Given the description of an element on the screen output the (x, y) to click on. 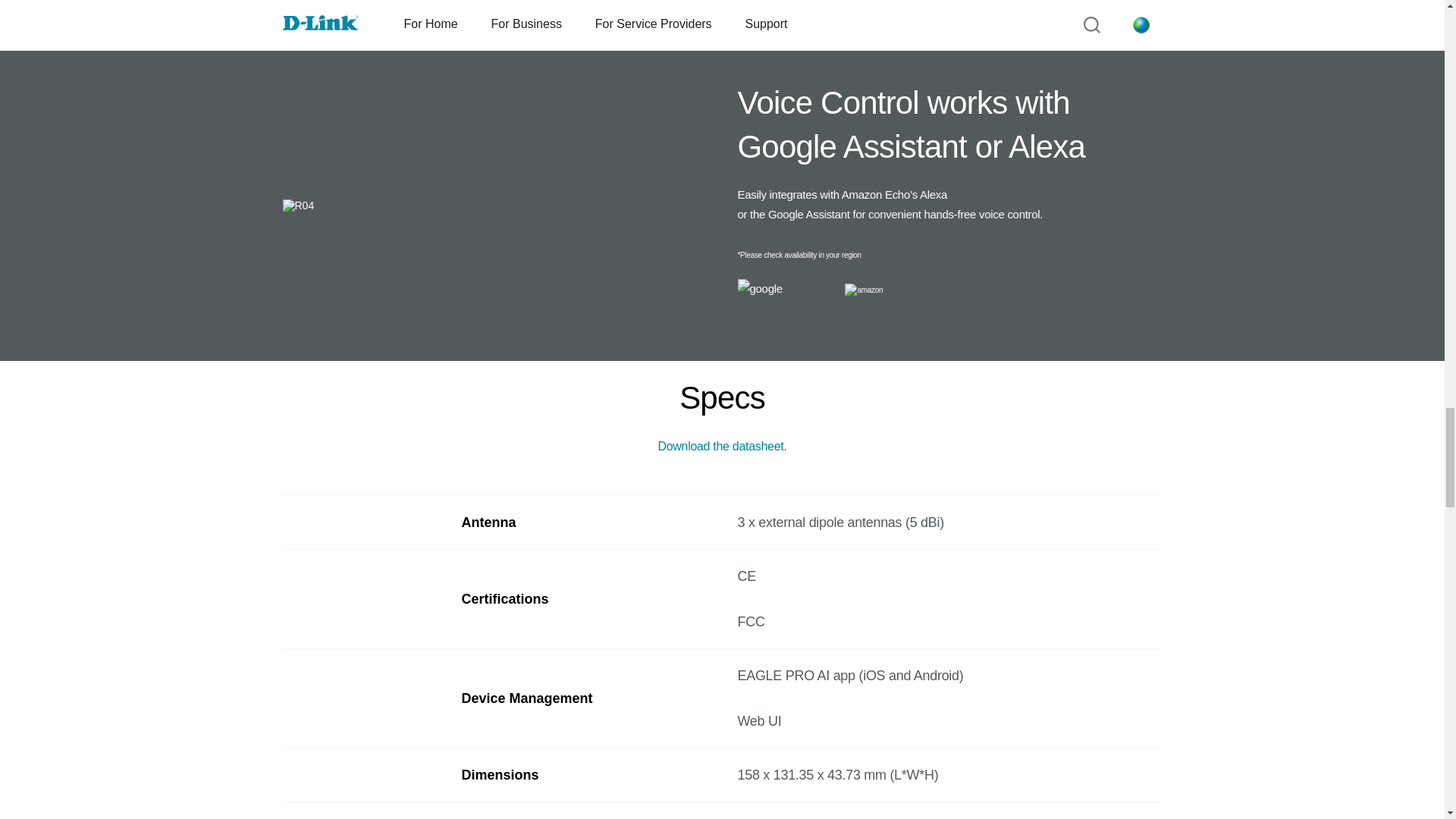
Download the datasheet. (722, 445)
